Given the description of an element on the screen output the (x, y) to click on. 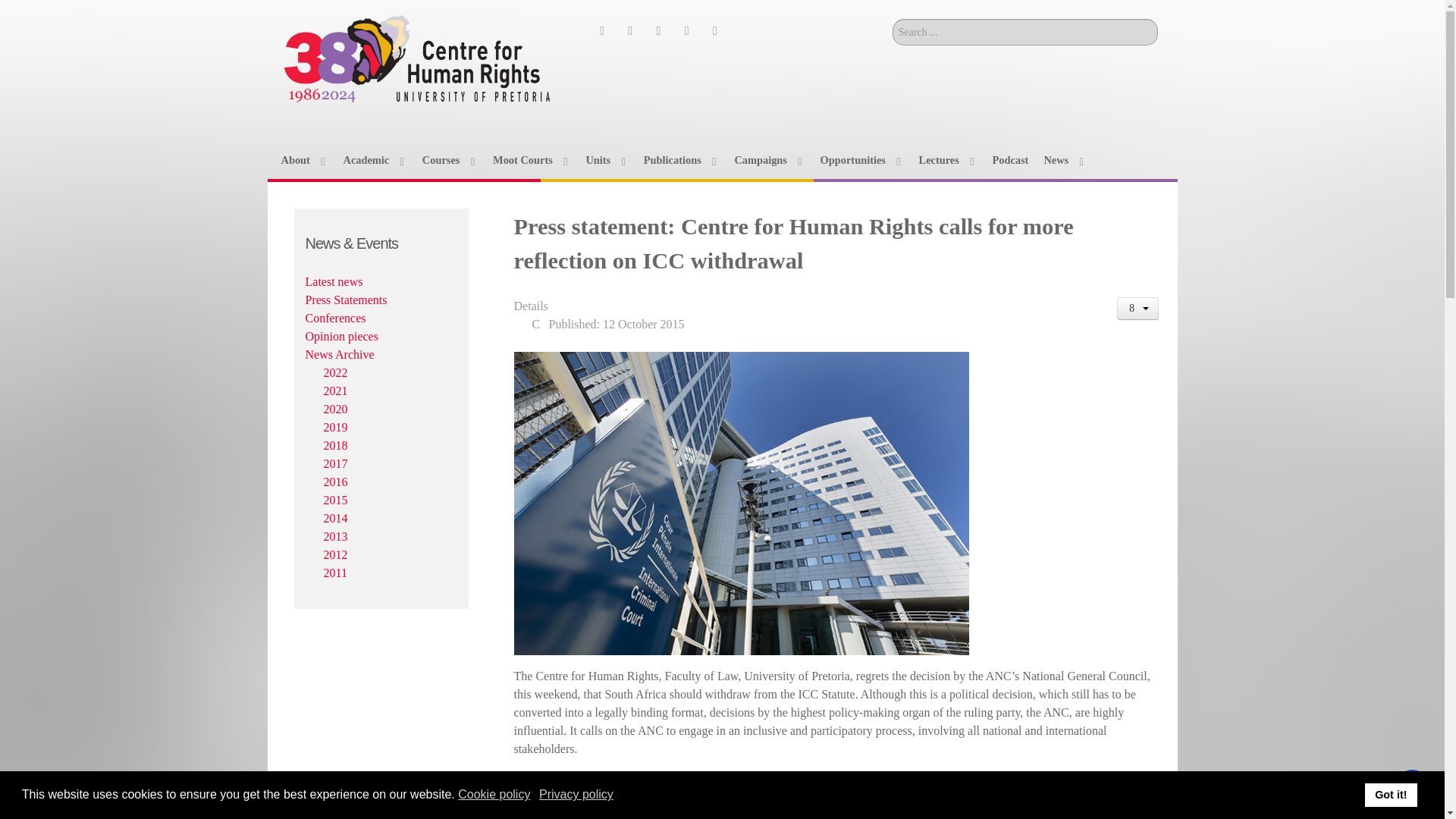
Courses (449, 160)
About (304, 160)
Privacy policy (576, 794)
Got it! (1390, 794)
Academic (374, 160)
Cookie policy (495, 794)
